Given the description of an element on the screen output the (x, y) to click on. 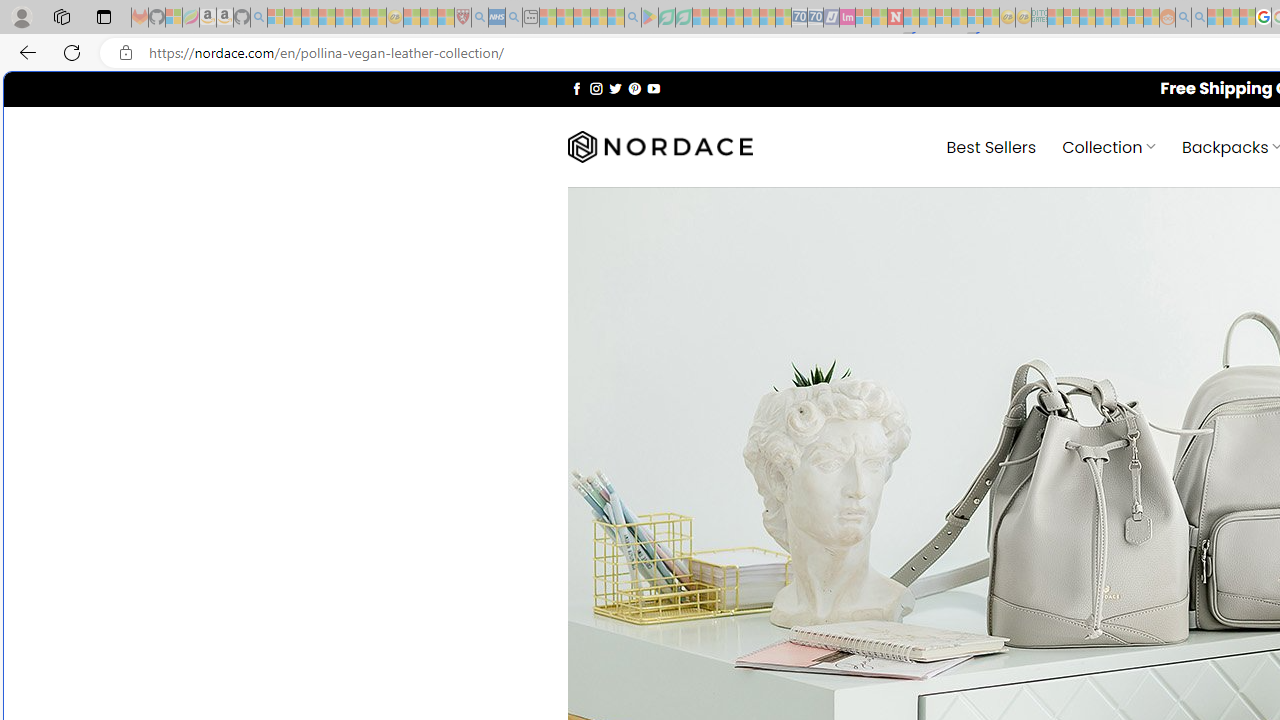
Microsoft-Report a Concern to Bing - Sleeping (173, 17)
Utah sues federal government - Search - Sleeping (1199, 17)
MSNBC - MSN - Sleeping (1055, 17)
Recipes - MSN - Sleeping (411, 17)
